Given the description of an element on the screen output the (x, y) to click on. 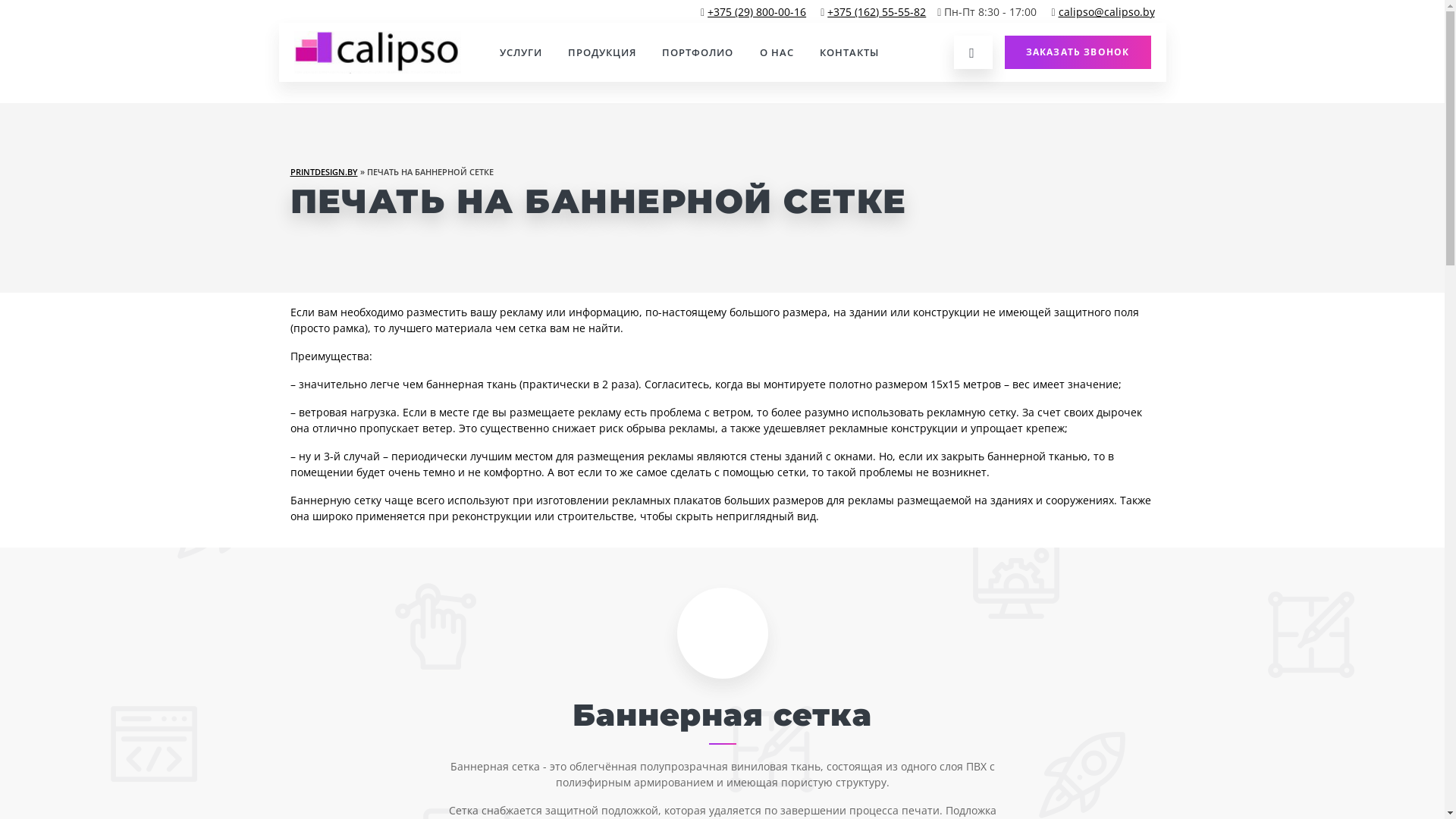
calipso@calipso.by Element type: text (1106, 11)
+375 (29) 800-00-16 Element type: text (756, 11)
PRINTDESIGN.BY Element type: text (323, 171)
+375 (162) 55-55-82 Element type: text (876, 11)
